Given the description of an element on the screen output the (x, y) to click on. 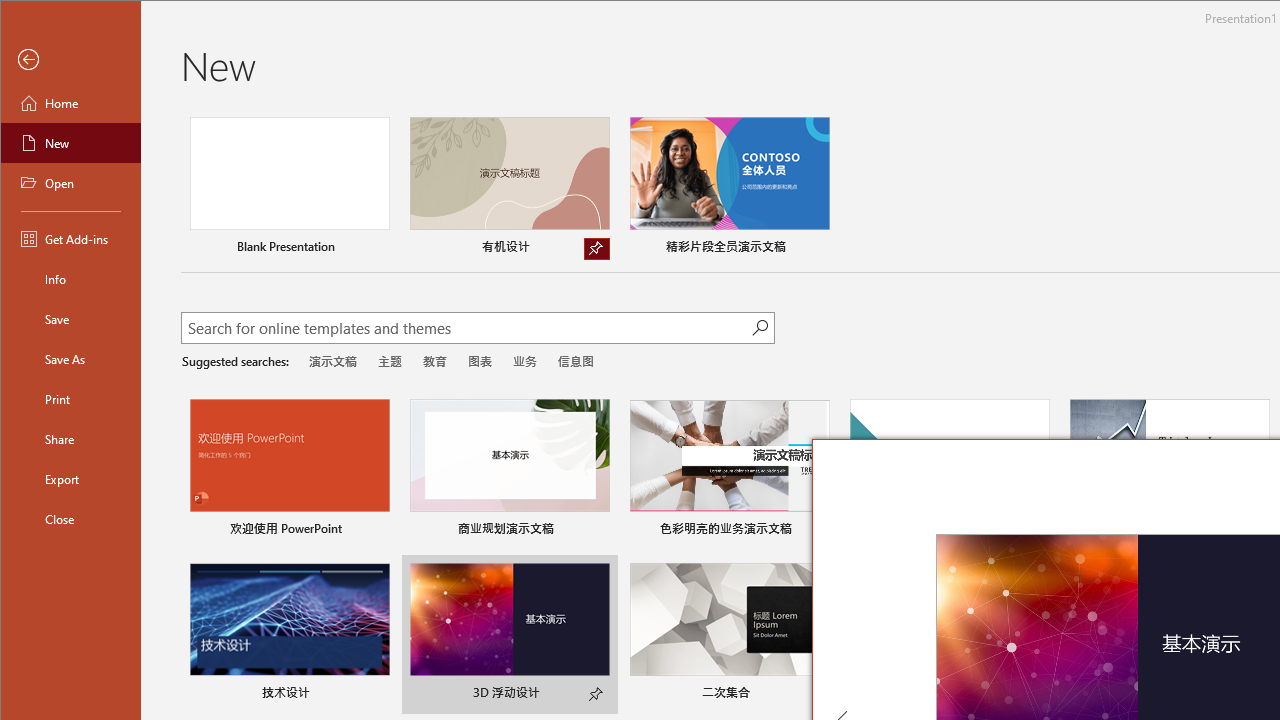
Blank Presentation (289, 187)
